Given the description of an element on the screen output the (x, y) to click on. 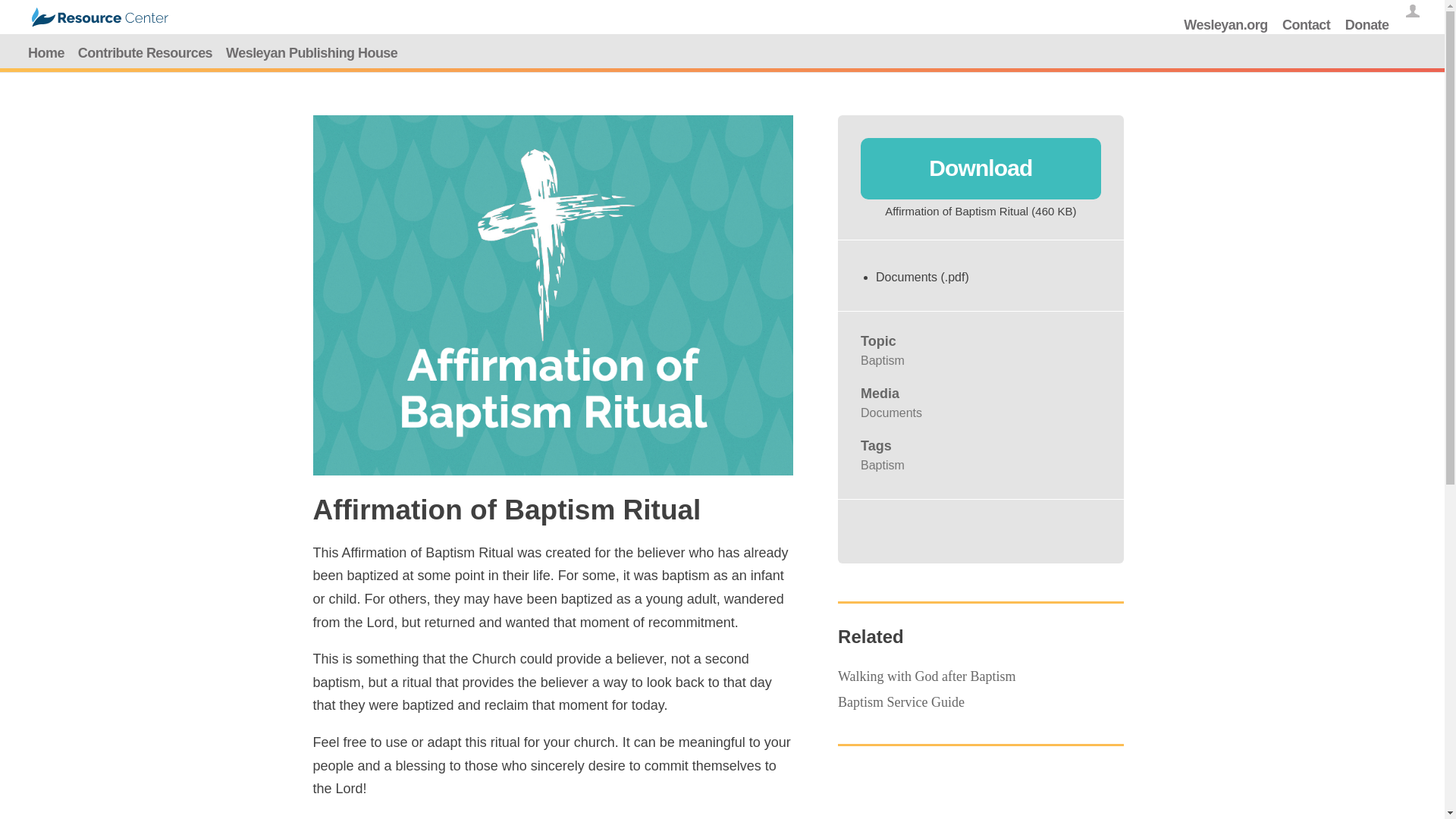
Wesleyan.org (1224, 24)
Wesleyan Publishing House (312, 53)
Walking with God after Baptism (927, 676)
Baptism (882, 464)
Donate (1367, 24)
Download (980, 168)
Documents (890, 412)
Baptism (882, 359)
Contribute Resources (144, 53)
Baptism Service Guide (900, 702)
Contact (1306, 24)
Home (46, 53)
